Given the description of an element on the screen output the (x, y) to click on. 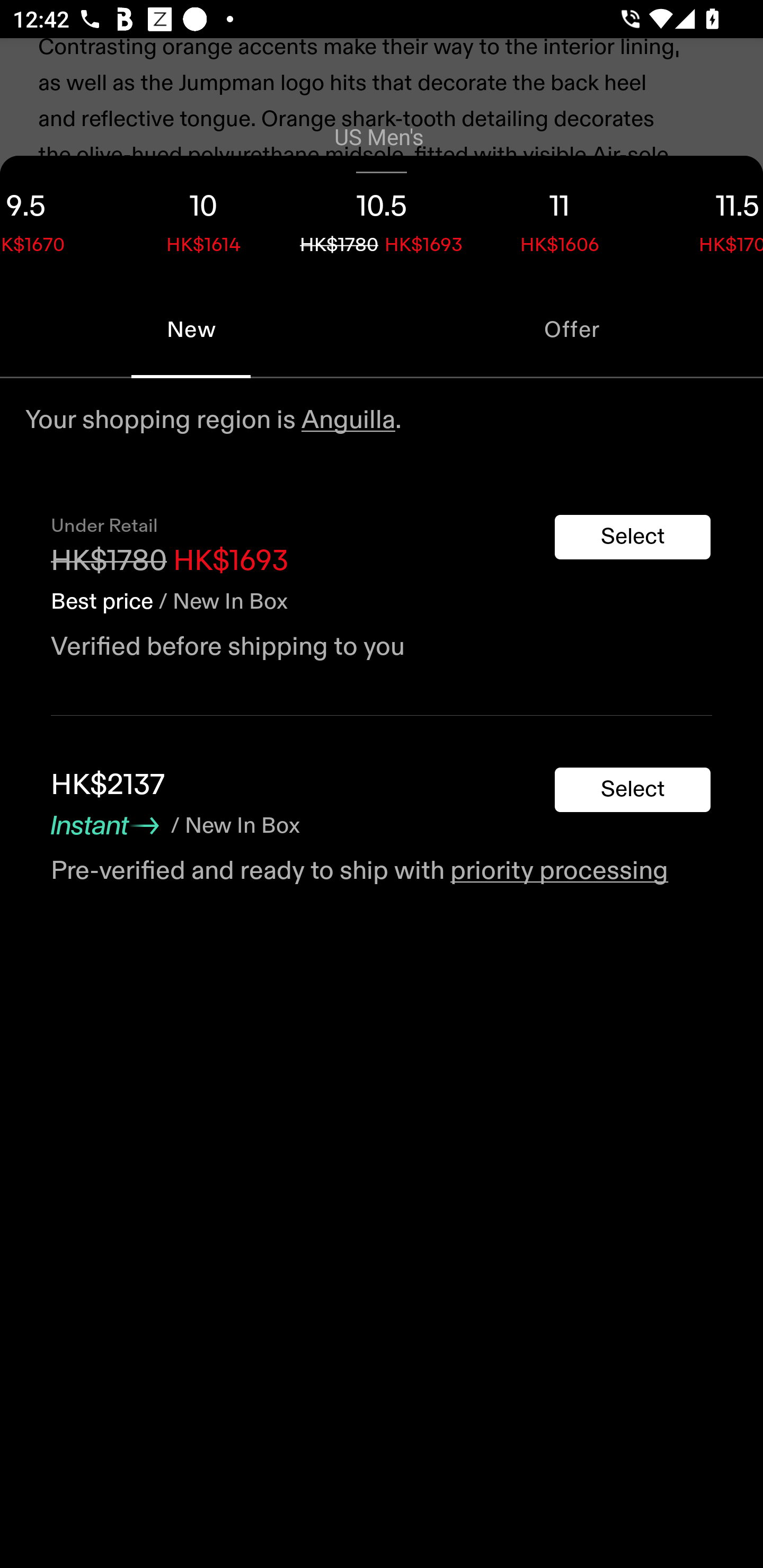
9.5 HK$1670 (57, 218)
10 HK$1614 (203, 218)
10.5 HK$1780 HK$1693 (381, 218)
11 HK$1606 (559, 218)
11.5 HK$1709 (705, 218)
Own (381, 408)
Select (632, 536)
HK$2137 (107, 785)
Select (632, 789)
